Given the description of an element on the screen output the (x, y) to click on. 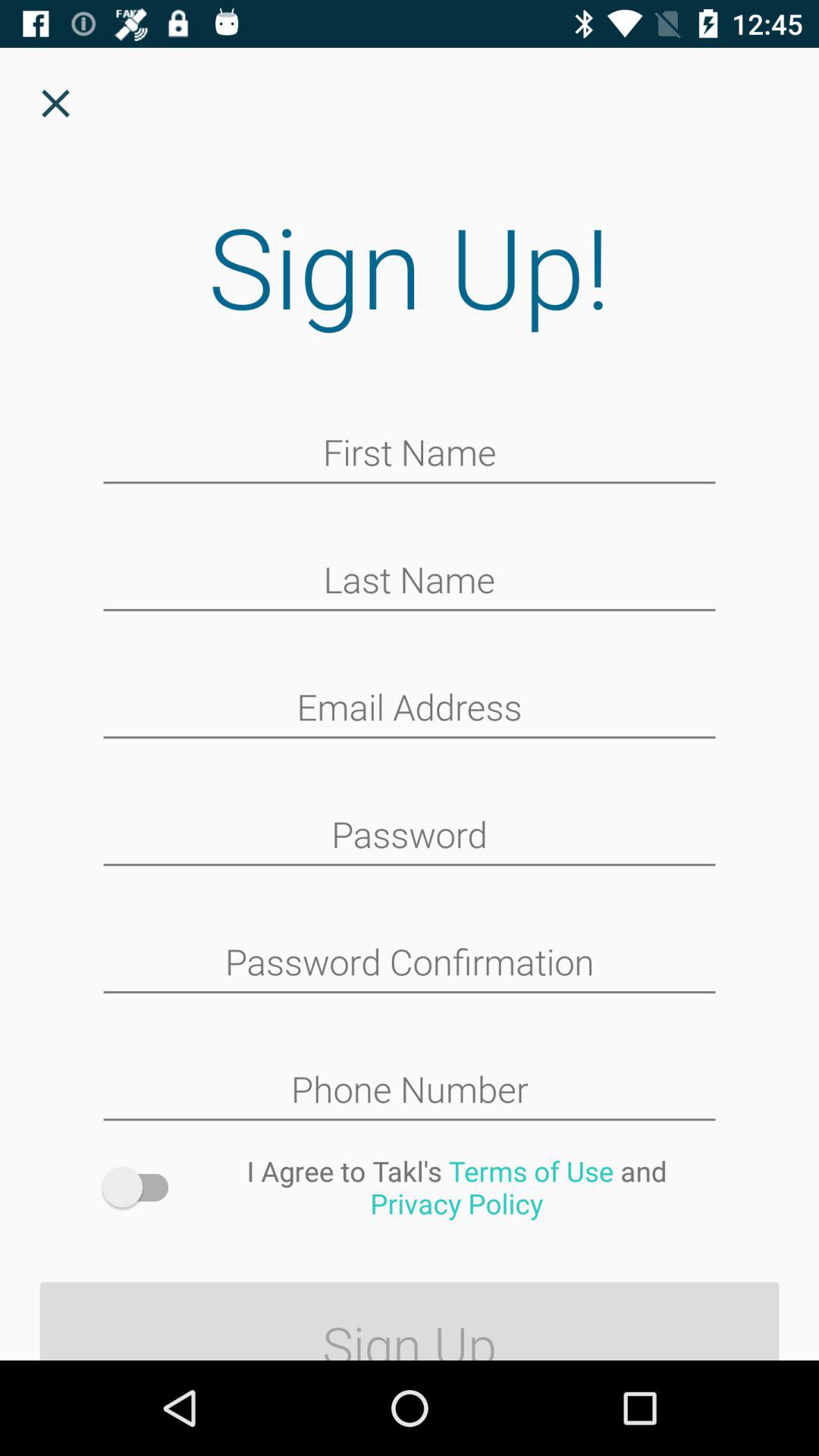
slide to agree to the t cs (142, 1187)
